Given the description of an element on the screen output the (x, y) to click on. 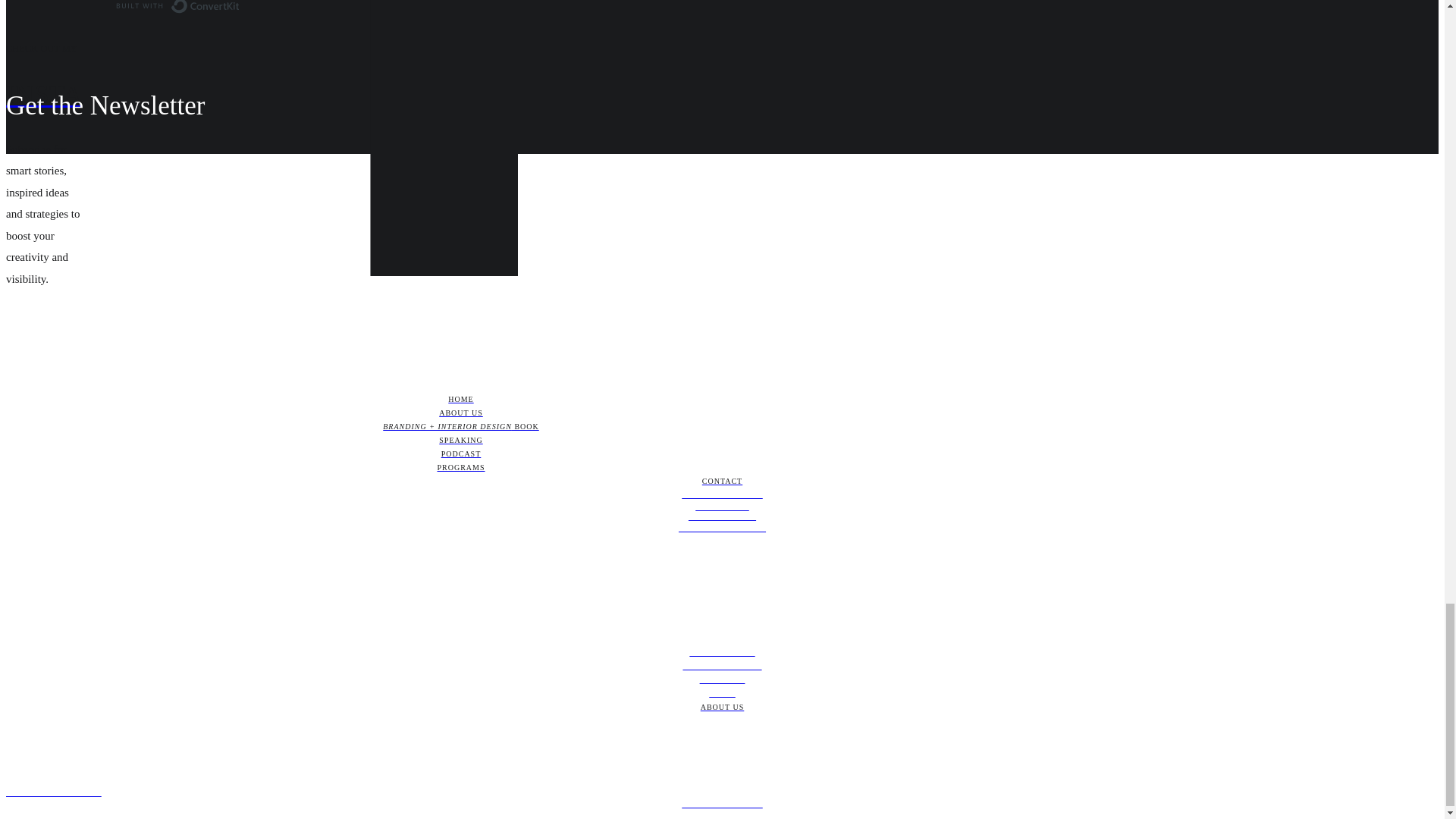
SPEAKING (460, 440)
HOME (460, 399)
ABOUT US (460, 413)
PODCAST (460, 454)
PROGRAMS (460, 468)
